Given the description of an element on the screen output the (x, y) to click on. 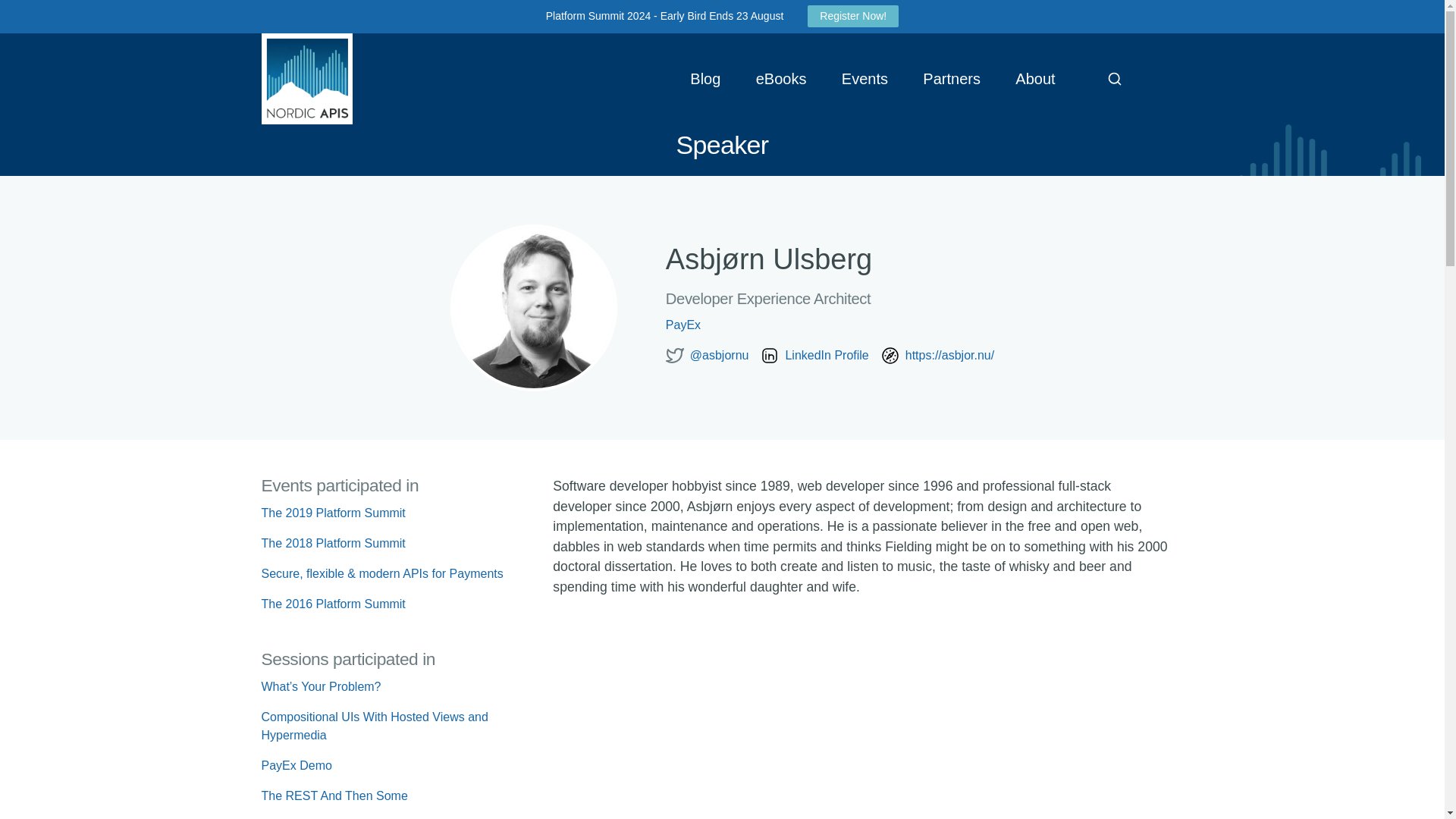
Partners (951, 78)
About (1035, 78)
Blog (705, 78)
Register Now! (853, 15)
Events (864, 78)
Search (1114, 78)
eBooks (781, 78)
PayEx (829, 325)
